Given the description of an element on the screen output the (x, y) to click on. 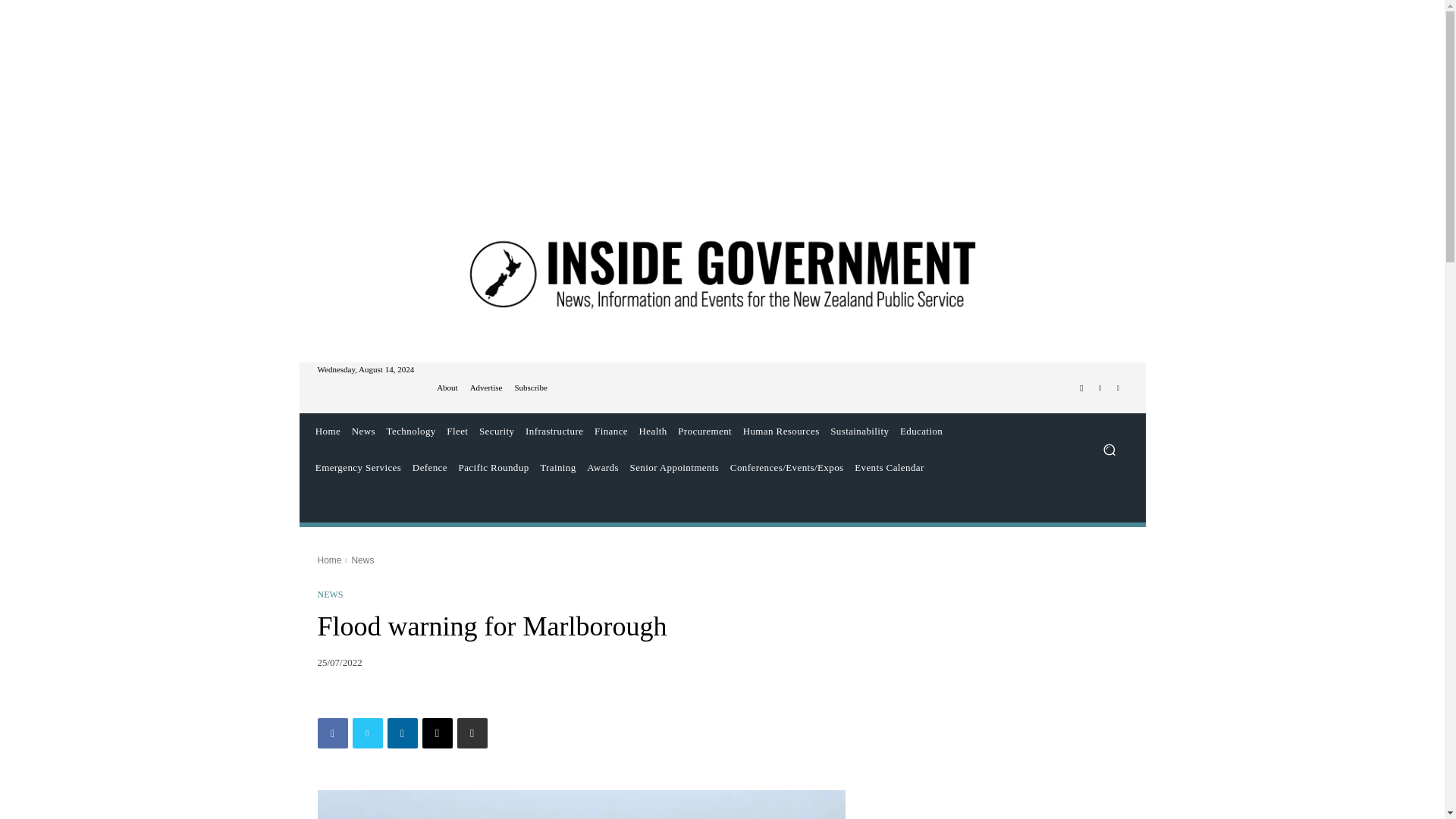
Infrastructure (554, 431)
Linkedin (1117, 388)
Fleet (457, 431)
About (447, 388)
Security (496, 431)
News (363, 431)
View all posts in News (362, 560)
Facebook (1080, 388)
Home (327, 431)
